Given the description of an element on the screen output the (x, y) to click on. 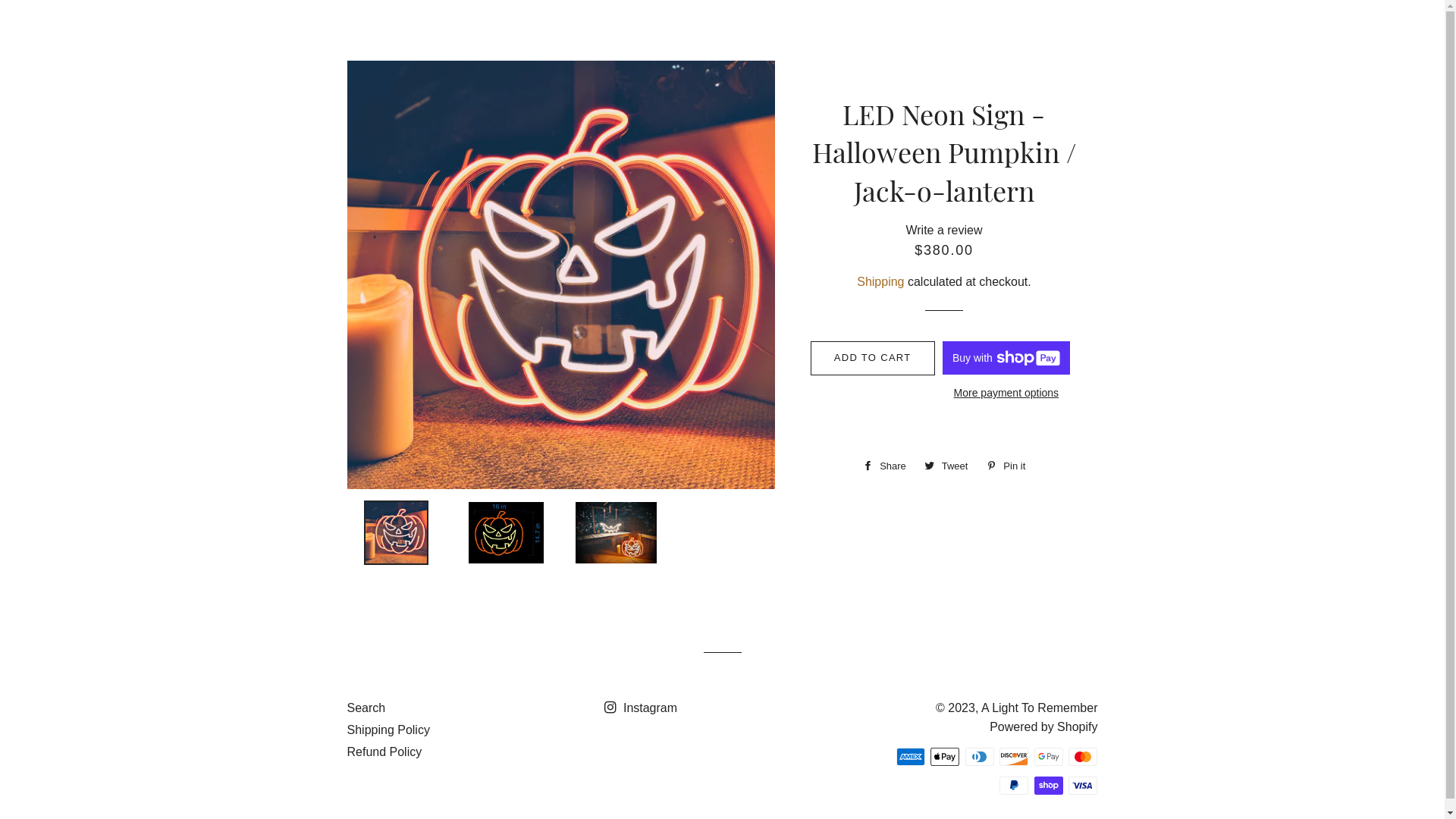
Shipping Element type: text (879, 281)
Pin it
Pin on Pinterest Element type: text (1005, 466)
Share
Share on Facebook Element type: text (884, 466)
Tweet
Tweet on Twitter Element type: text (945, 466)
Instagram Element type: text (640, 707)
Refund Policy Element type: text (384, 751)
More payment options Element type: text (1006, 393)
ADD TO CART Element type: text (872, 357)
Powered by Shopify Element type: text (1043, 726)
Shipping Policy Element type: text (388, 729)
Search Element type: text (366, 707)
A Light To Remember Element type: text (1039, 707)
